Given the description of an element on the screen output the (x, y) to click on. 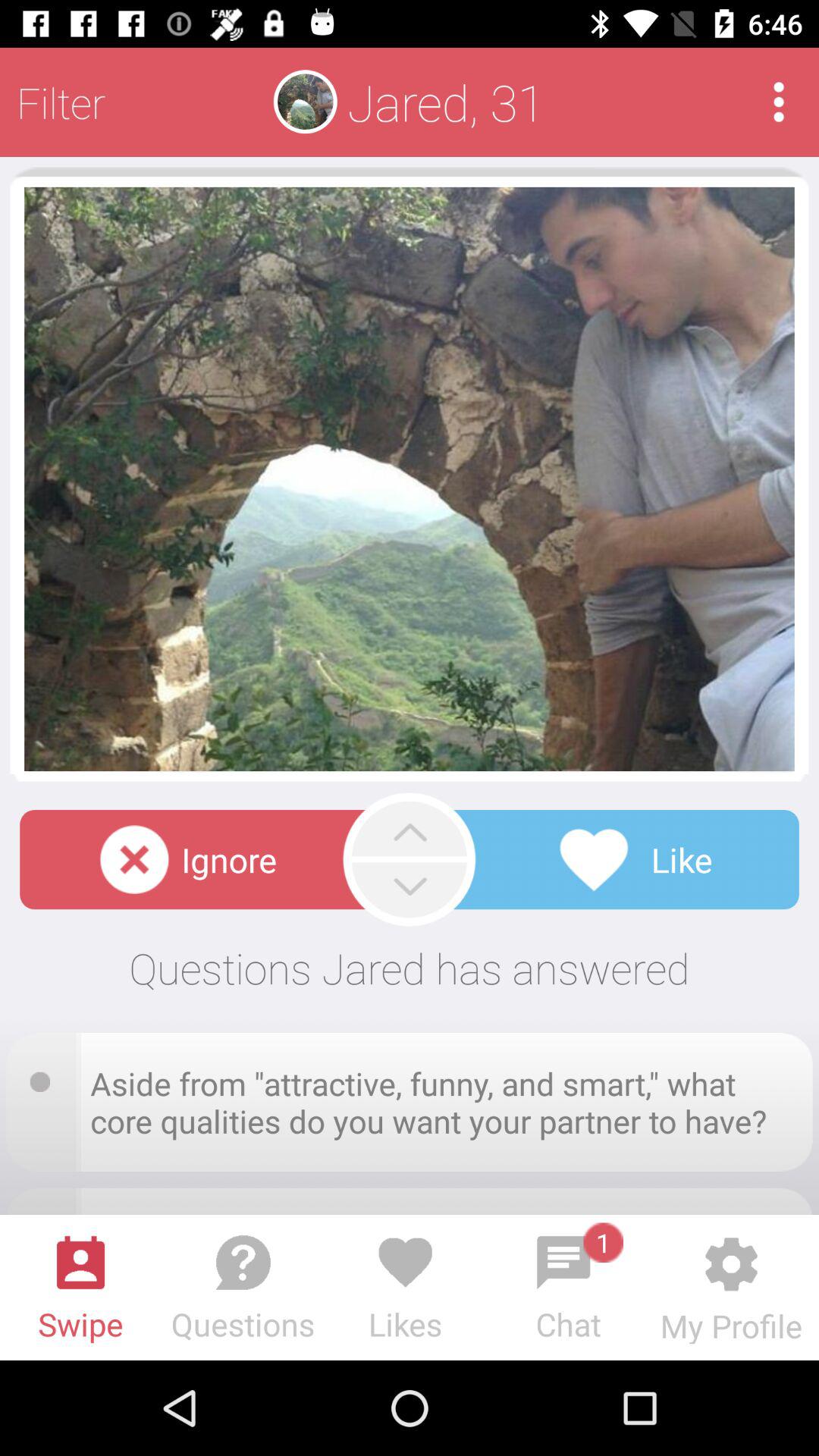
launch item to the left of aside from attractive icon (45, 1076)
